Given the description of an element on the screen output the (x, y) to click on. 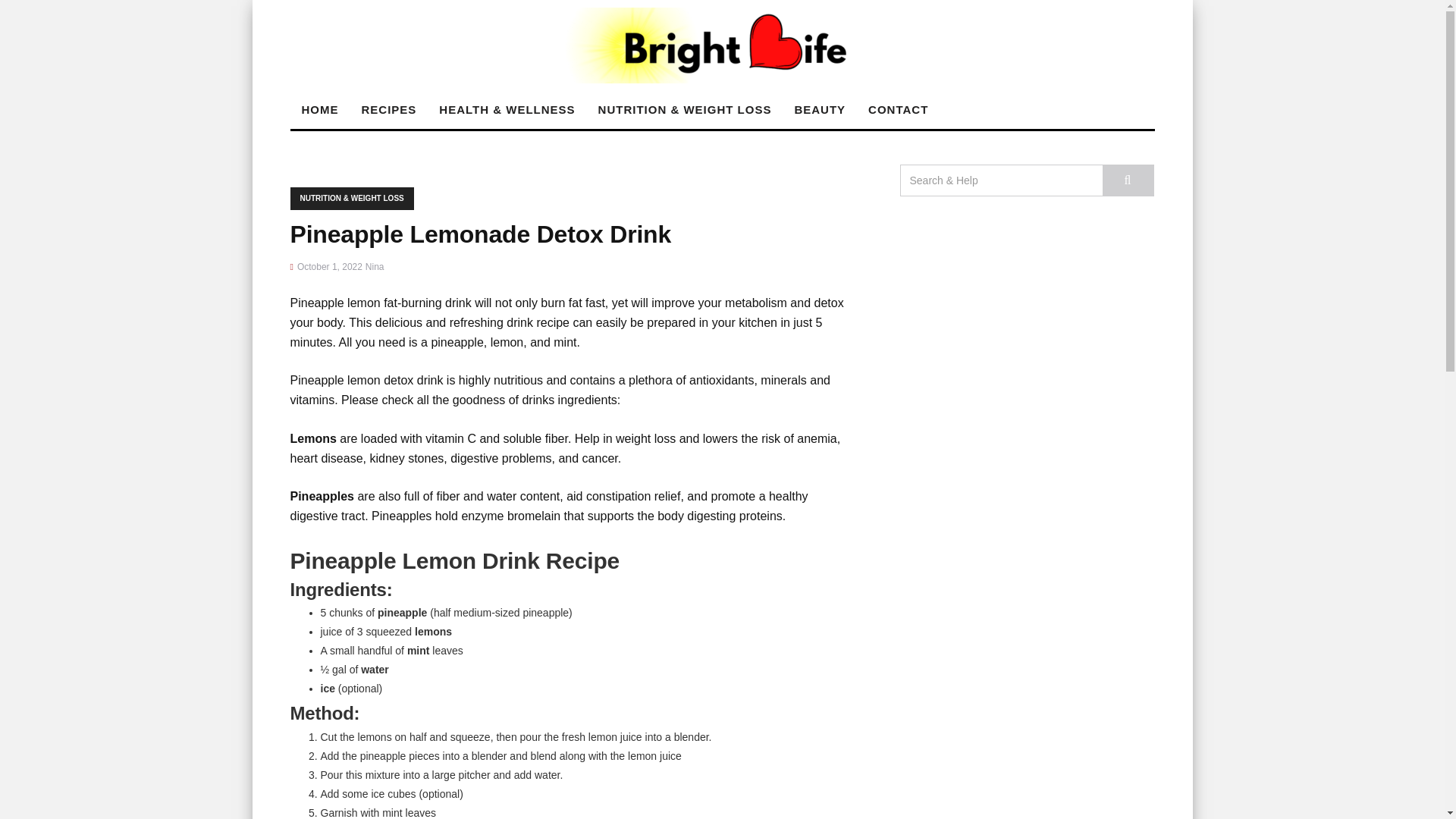
HOME (319, 109)
Nina (374, 266)
Posts by Nina (374, 266)
CONTACT (898, 109)
BEAUTY (820, 109)
RECIPES (389, 109)
Beauty (820, 109)
Search (1128, 180)
Search for: (1000, 180)
Home (319, 109)
